Given the description of an element on the screen output the (x, y) to click on. 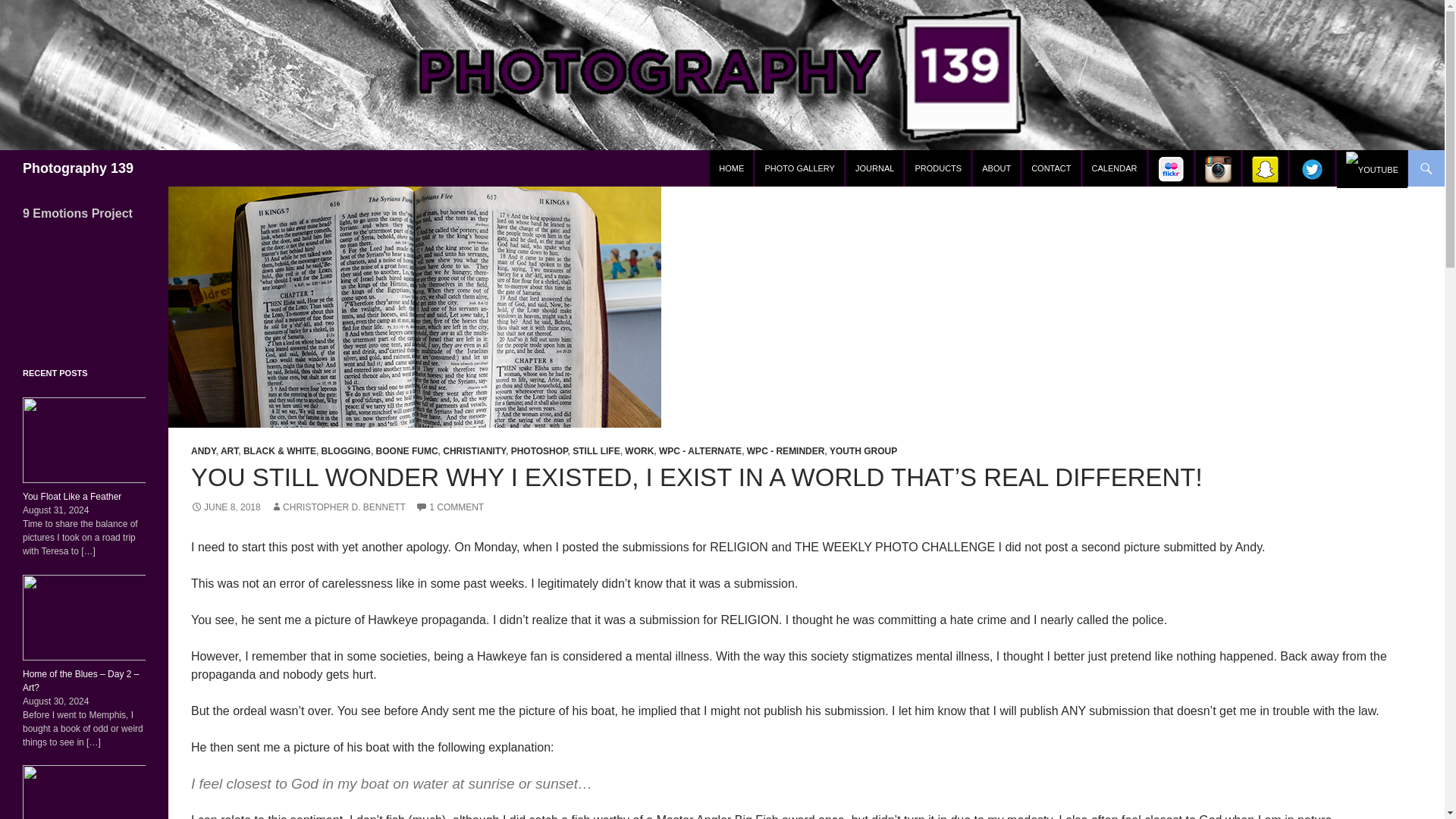
BOONE FUMC (406, 450)
YOUTH GROUP (862, 450)
Want to Talk? (1051, 167)
Home (731, 167)
Flickr (1170, 167)
ART (229, 450)
Photography 139 (78, 167)
CHRISTOPHER D. BENNETT (338, 507)
WPC - ALTERNATE (700, 450)
CONTACT (1051, 167)
